Given the description of an element on the screen output the (x, y) to click on. 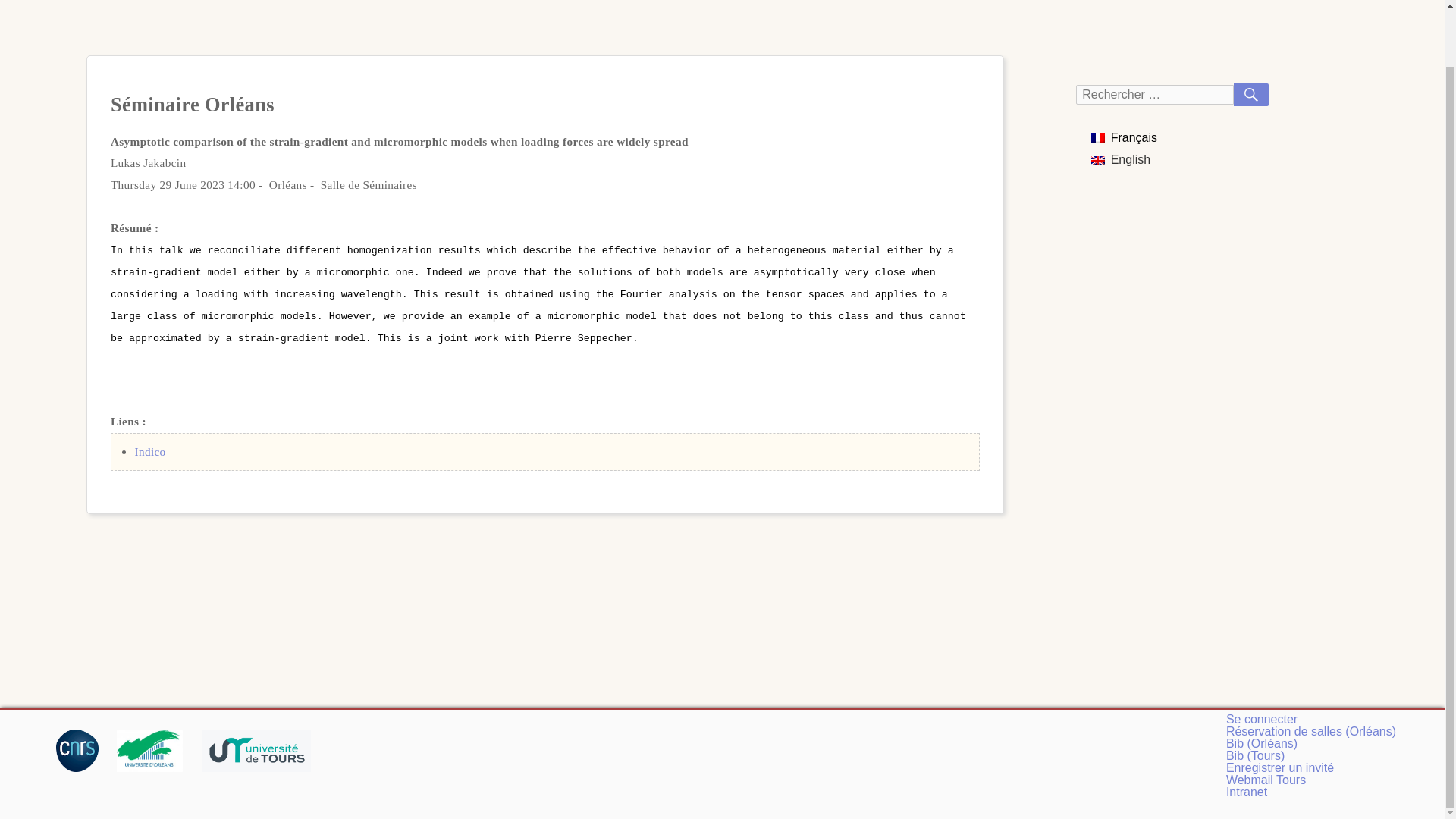
RECHERCHER (1250, 94)
English (1120, 159)
Indico (149, 451)
Intranet (1245, 791)
Webmail Tours (1265, 779)
Se connecter (1261, 718)
